Given the description of an element on the screen output the (x, y) to click on. 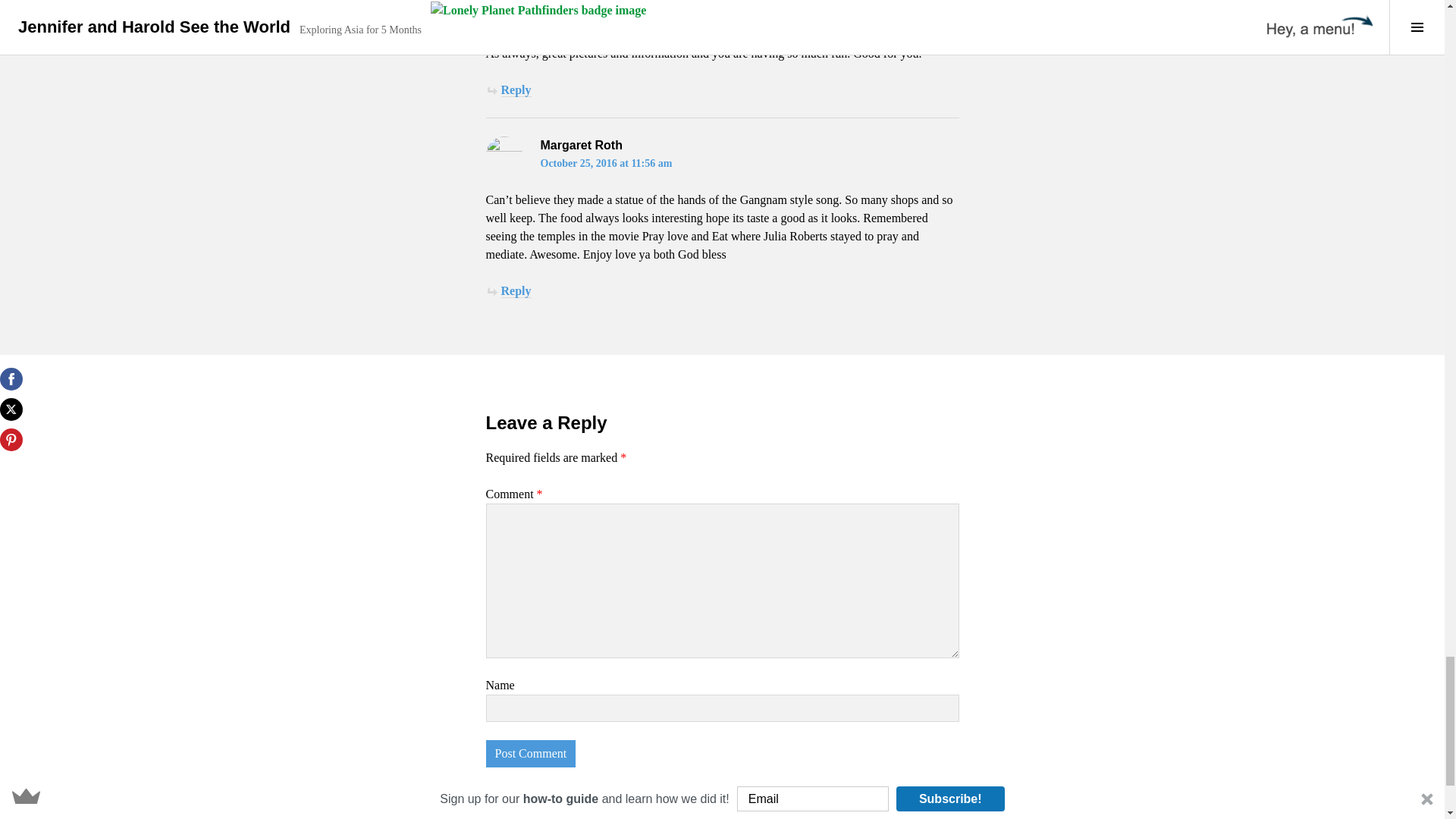
Post Comment (529, 753)
Reply (515, 90)
October 25, 2016 at 11:56 am (605, 163)
Reply (515, 291)
Post Comment (529, 753)
October 24, 2016 at 10:31 pm (606, 16)
